Given the description of an element on the screen output the (x, y) to click on. 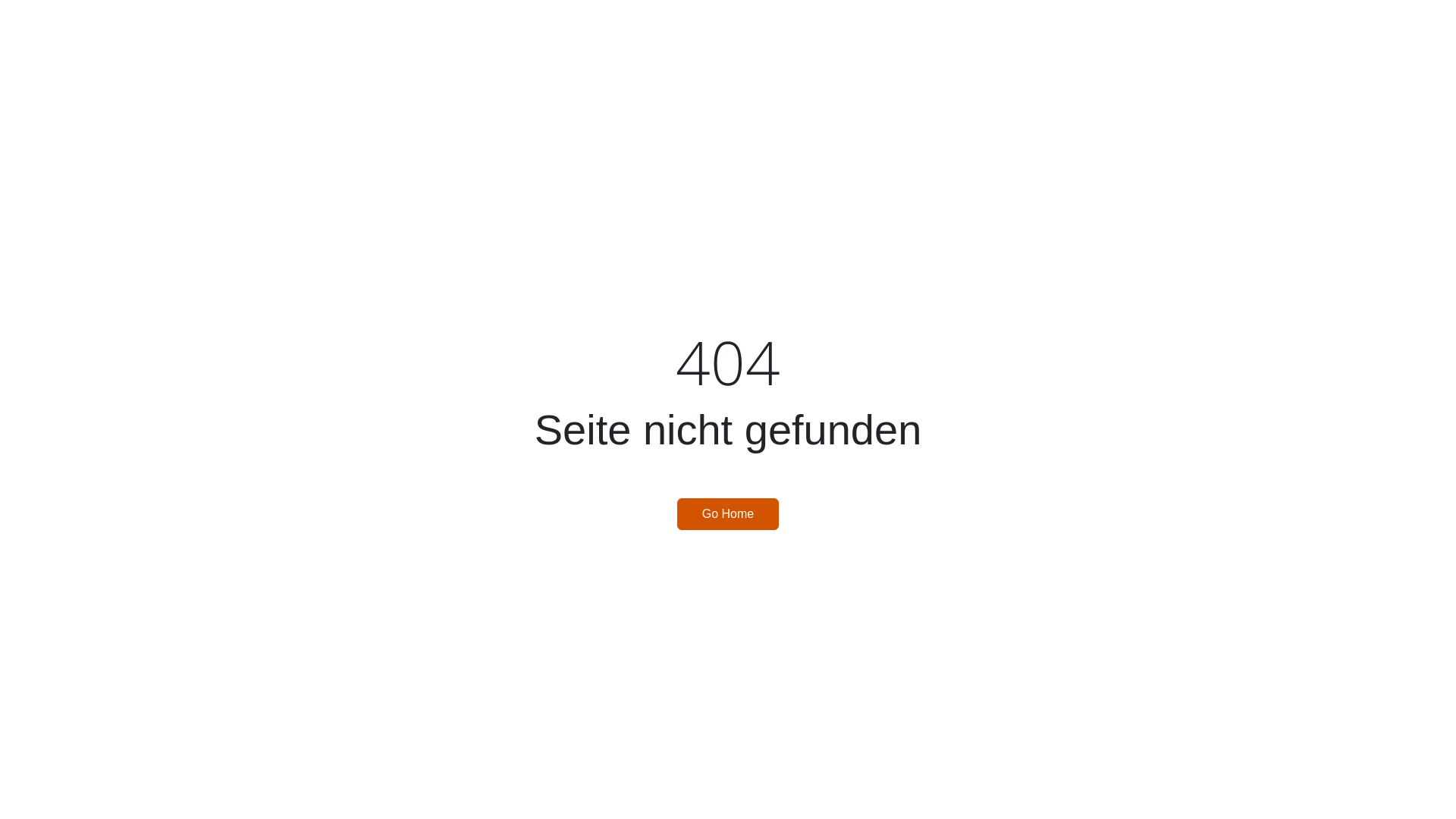
Go Home Element type: text (727, 514)
